Given the description of an element on the screen output the (x, y) to click on. 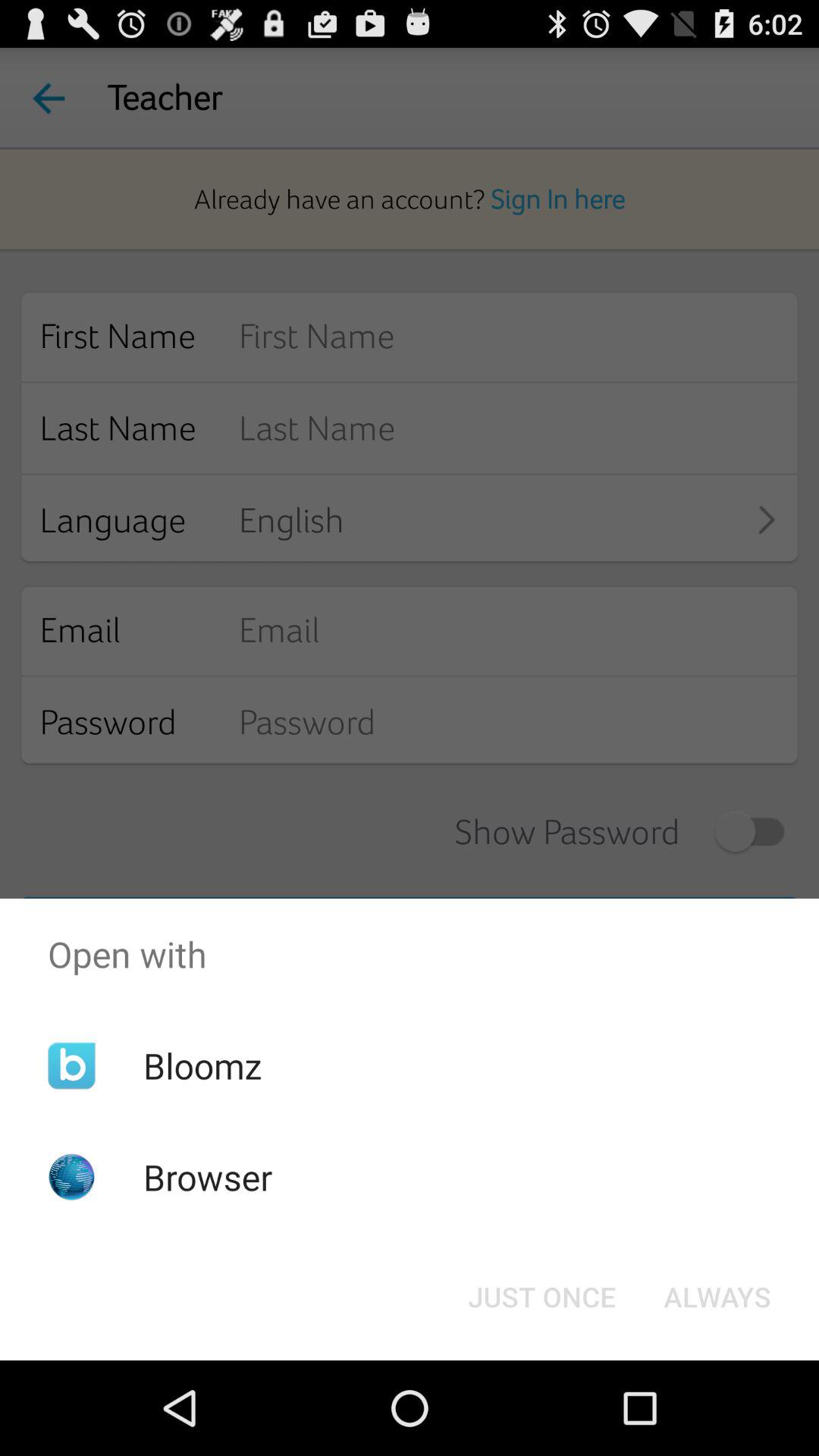
flip to the always item (717, 1296)
